Given the description of an element on the screen output the (x, y) to click on. 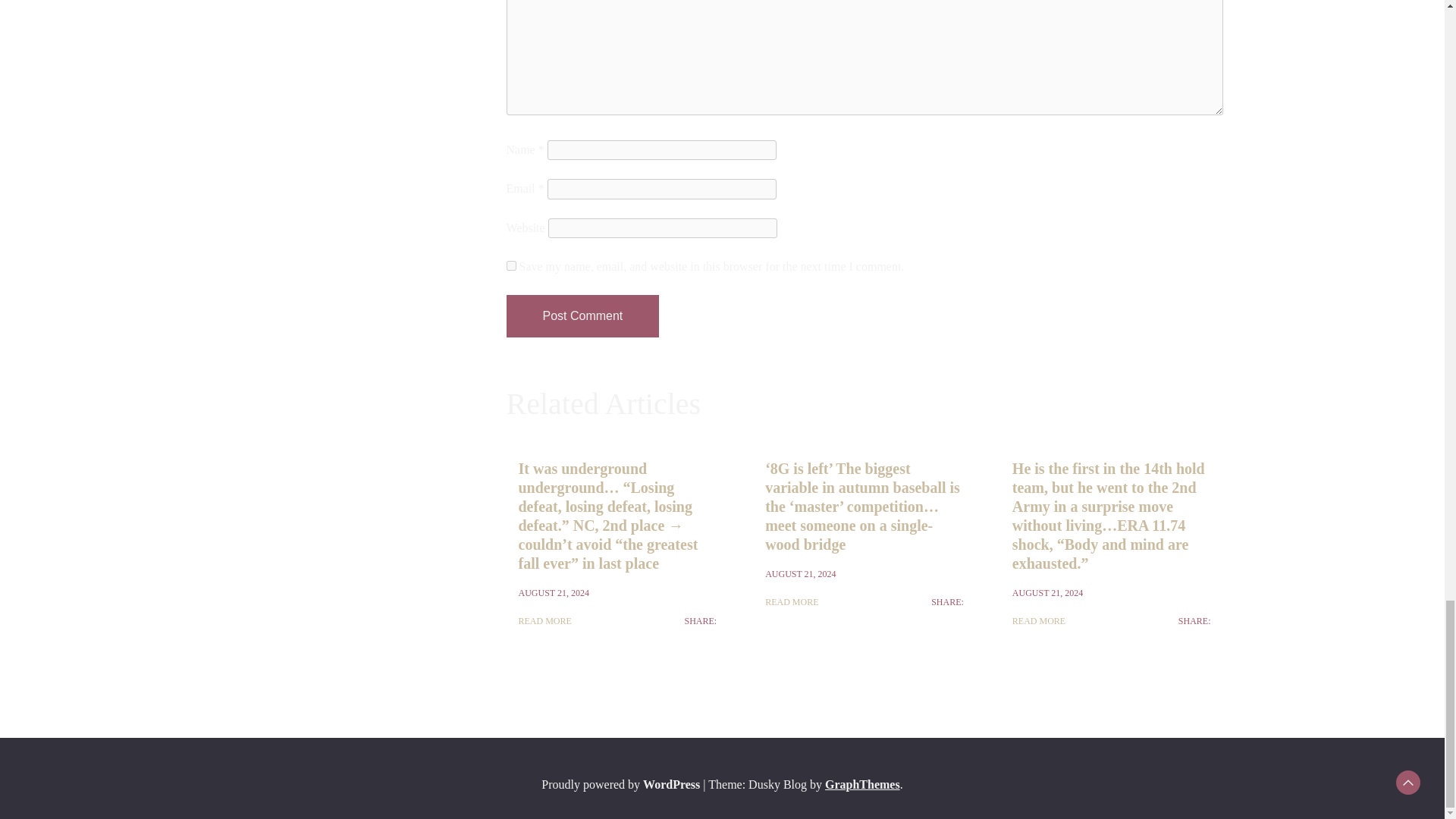
AUGUST 21, 2024 (800, 573)
READ MORE (1038, 620)
AUGUST 21, 2024 (553, 592)
AUGUST 21, 2024 (1047, 592)
READ MORE (791, 601)
Post Comment (582, 315)
Post Comment (582, 315)
yes (511, 266)
READ MORE (545, 620)
